Given the description of an element on the screen output the (x, y) to click on. 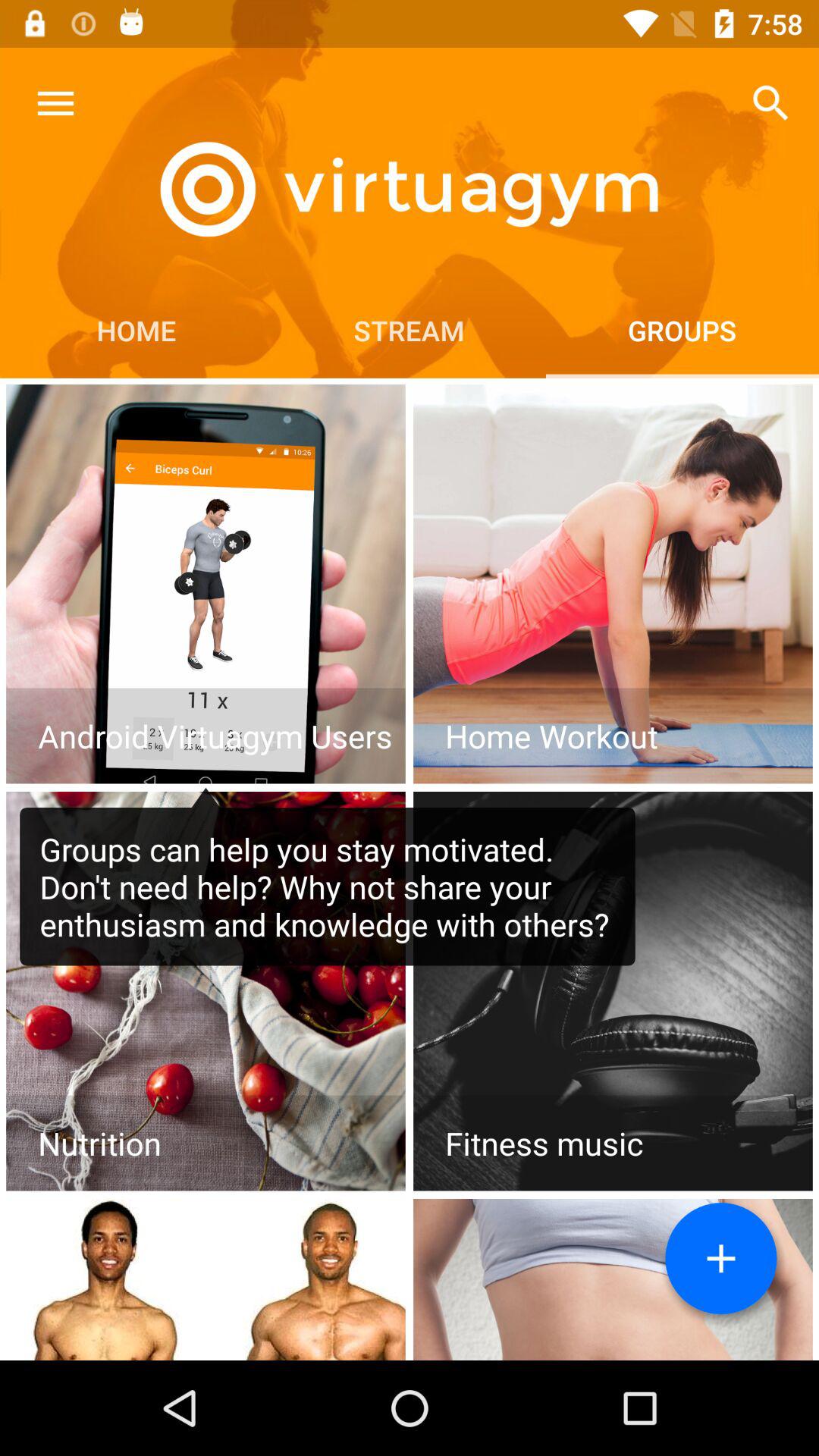
tap icon above groups item (771, 103)
